Given the description of an element on the screen output the (x, y) to click on. 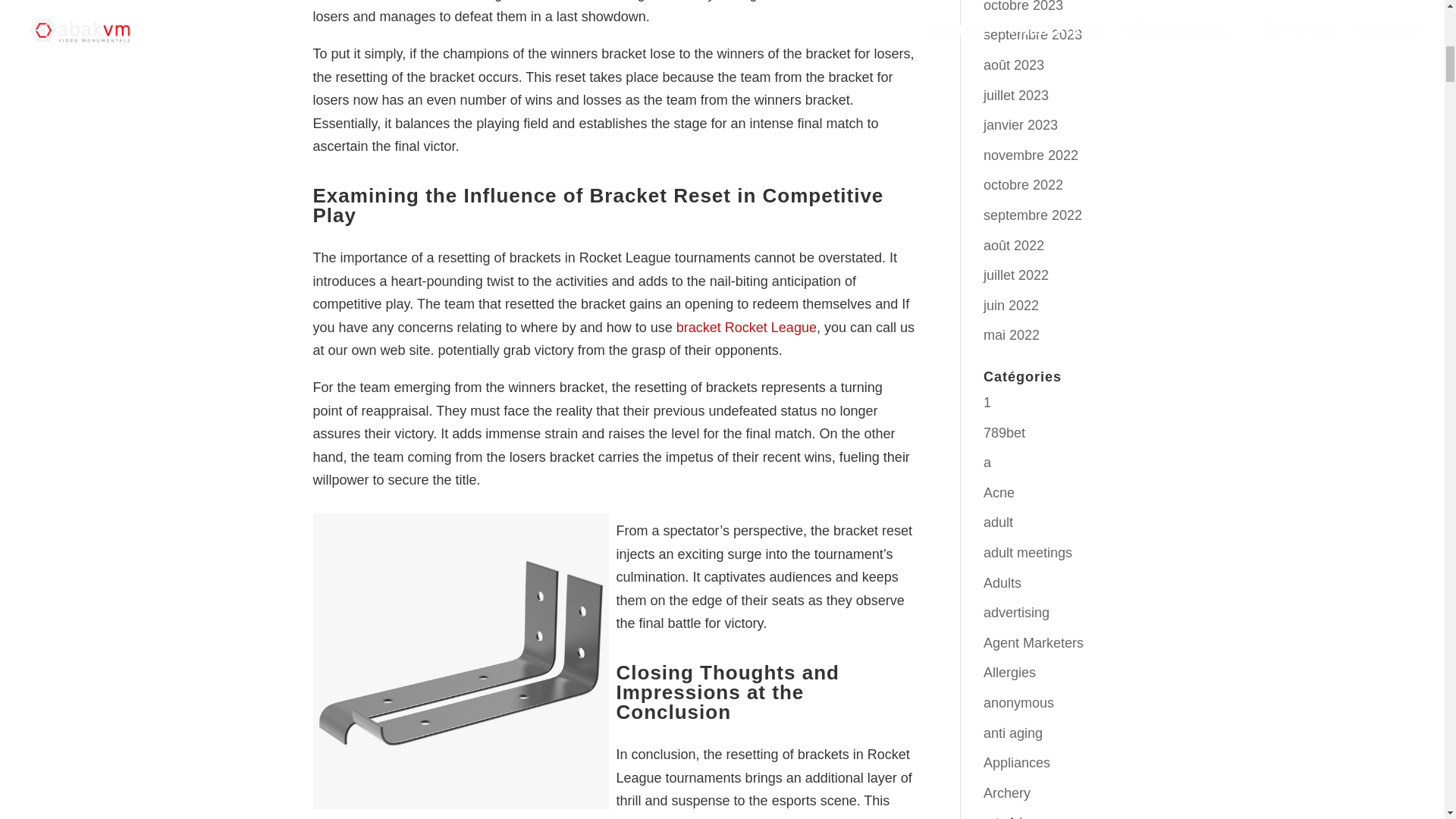
bracket RL (824, 0)
bracket Rocket League (746, 327)
